Given the description of an element on the screen output the (x, y) to click on. 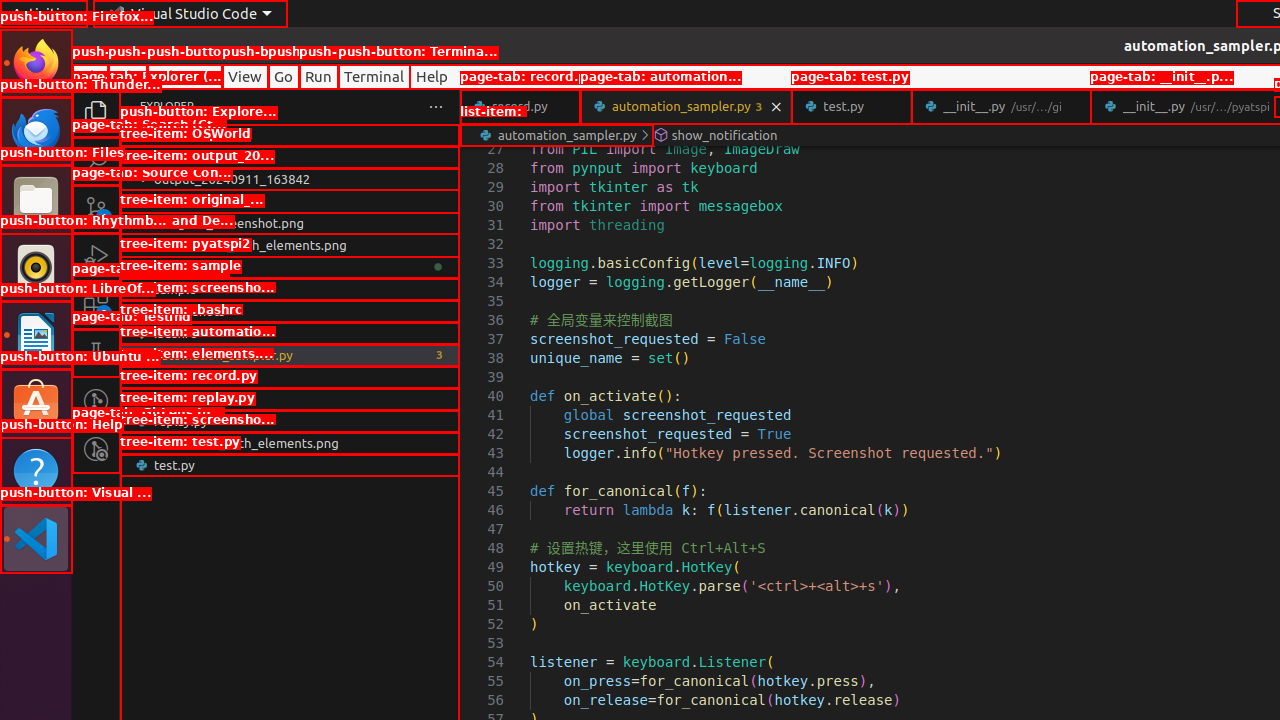
OSWorld Element type: tree-item (289, 157)
Search (Ctrl+Shift+F) Element type: page-tab (96, 160)
sample Element type: tree-item (289, 289)
.bashrc Element type: tree-item (289, 333)
Terminal Element type: push-button (374, 76)
